Given the description of an element on the screen output the (x, y) to click on. 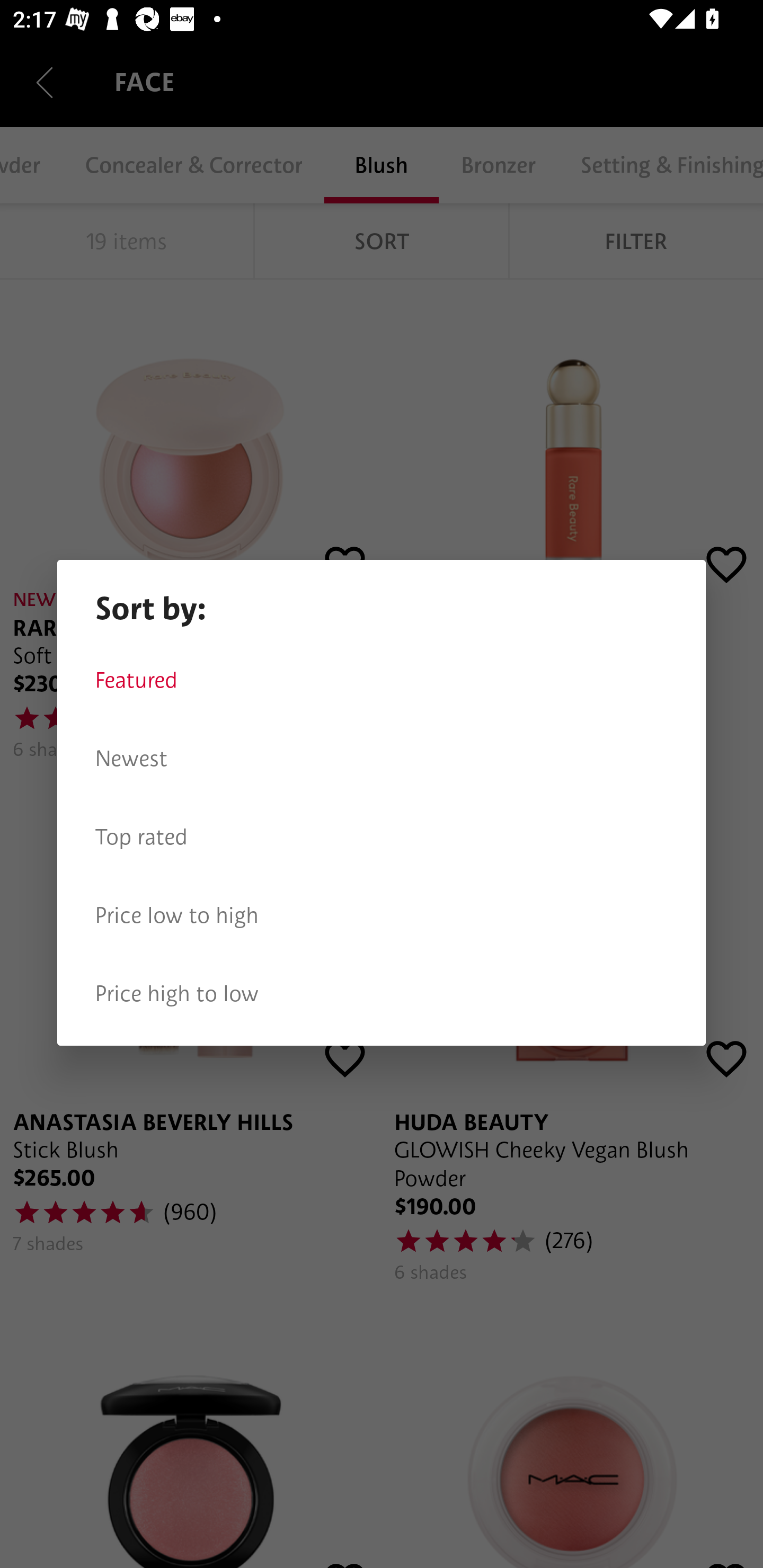
Featured (381, 680)
Newest (381, 758)
Top rated (381, 837)
Price low to high (381, 915)
Price high to low (381, 993)
